Given the description of an element on the screen output the (x, y) to click on. 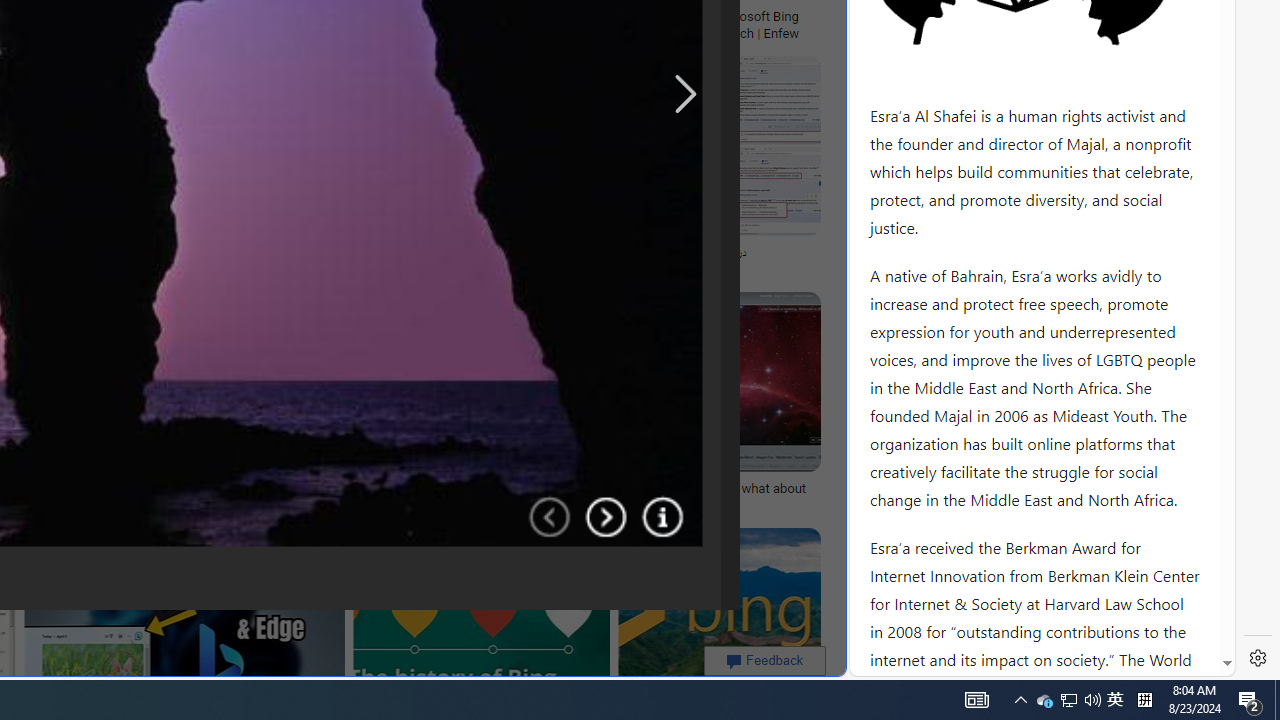
Actions for this site (1129, 306)
MSN (687, 223)
Bing (2009) (RARE/FAKE) - YouTubeSave (381, 169)
Microsoft Bing Search | Enfew (763, 24)
Microsoft Bing Search | Enfew (763, 24)
